Given the description of an element on the screen output the (x, y) to click on. 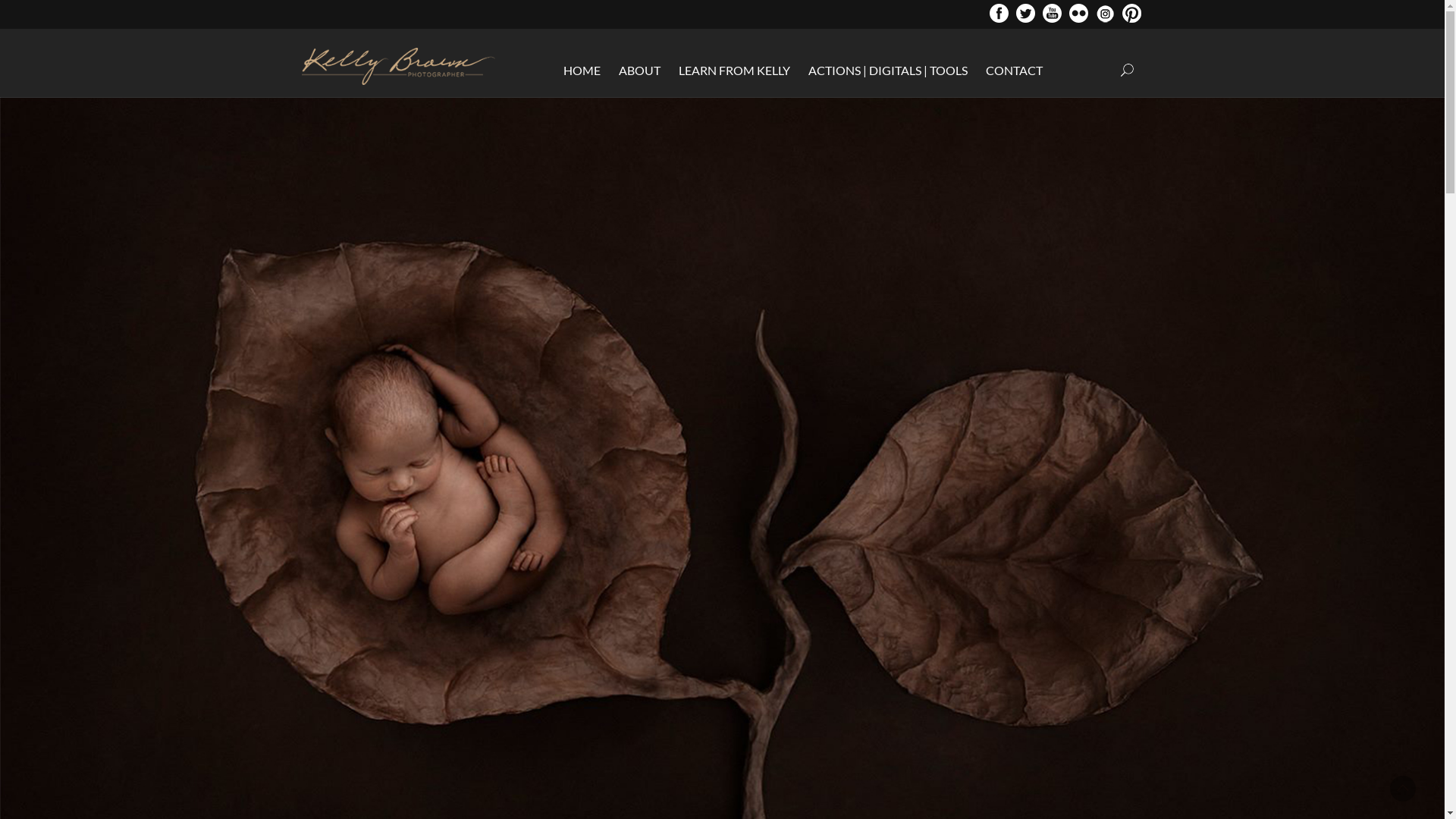
Instragram Element type: hover (1104, 18)
YouTube Element type: hover (1050, 18)
Pintrest Element type: hover (1131, 18)
ACTIONS | DIGITALS | TOOLS Element type: text (887, 70)
LEARN FROM KELLY Element type: text (733, 70)
Facebook Element type: hover (997, 18)
Flicker Element type: hover (1078, 18)
Twitter Element type: hover (1025, 18)
ABOUT Element type: text (639, 70)
CONTACT Element type: text (1014, 70)
HOME Element type: text (581, 70)
